Given the description of an element on the screen output the (x, y) to click on. 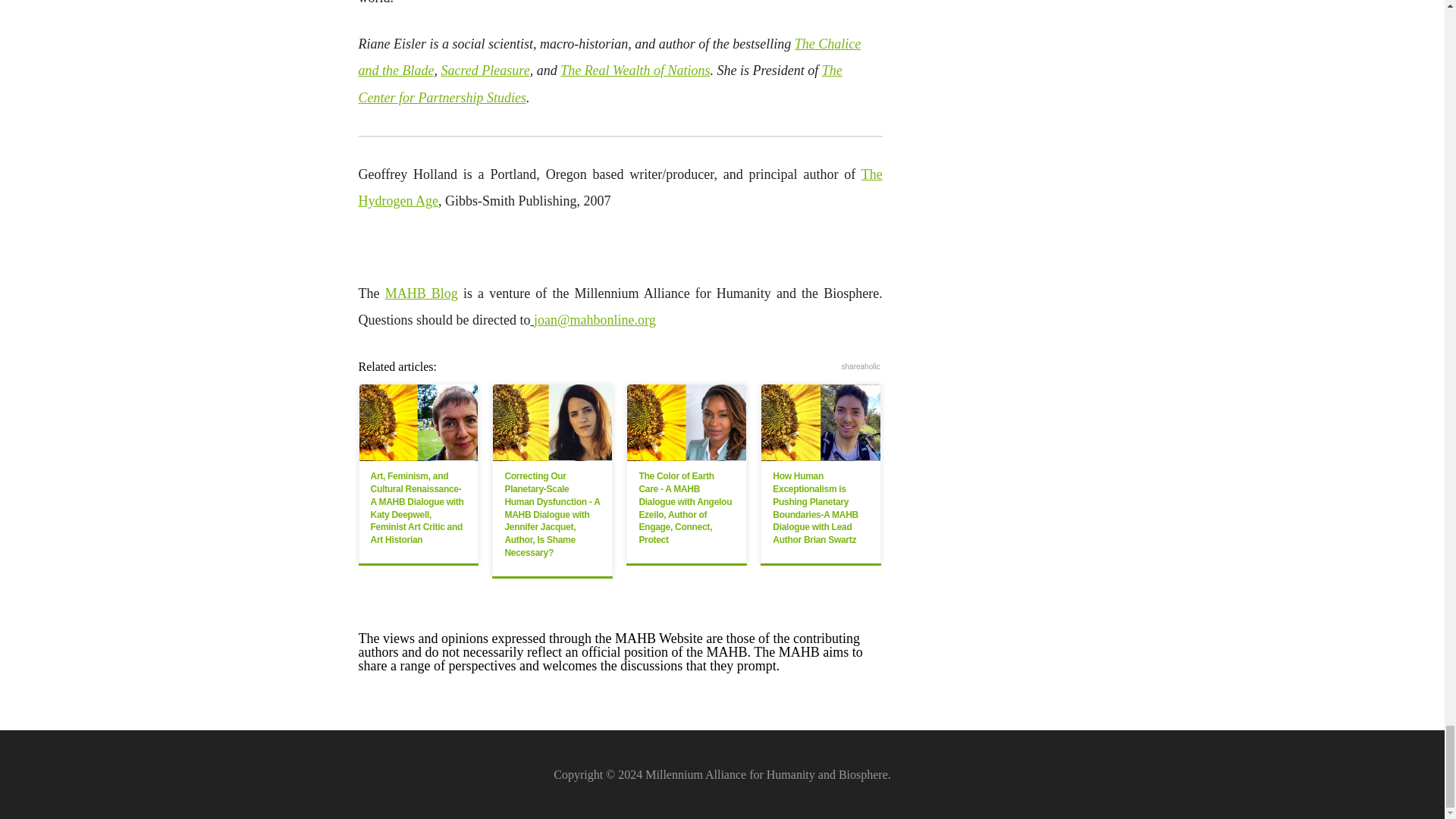
Website Tools by Shareaholic (860, 366)
